Given the description of an element on the screen output the (x, y) to click on. 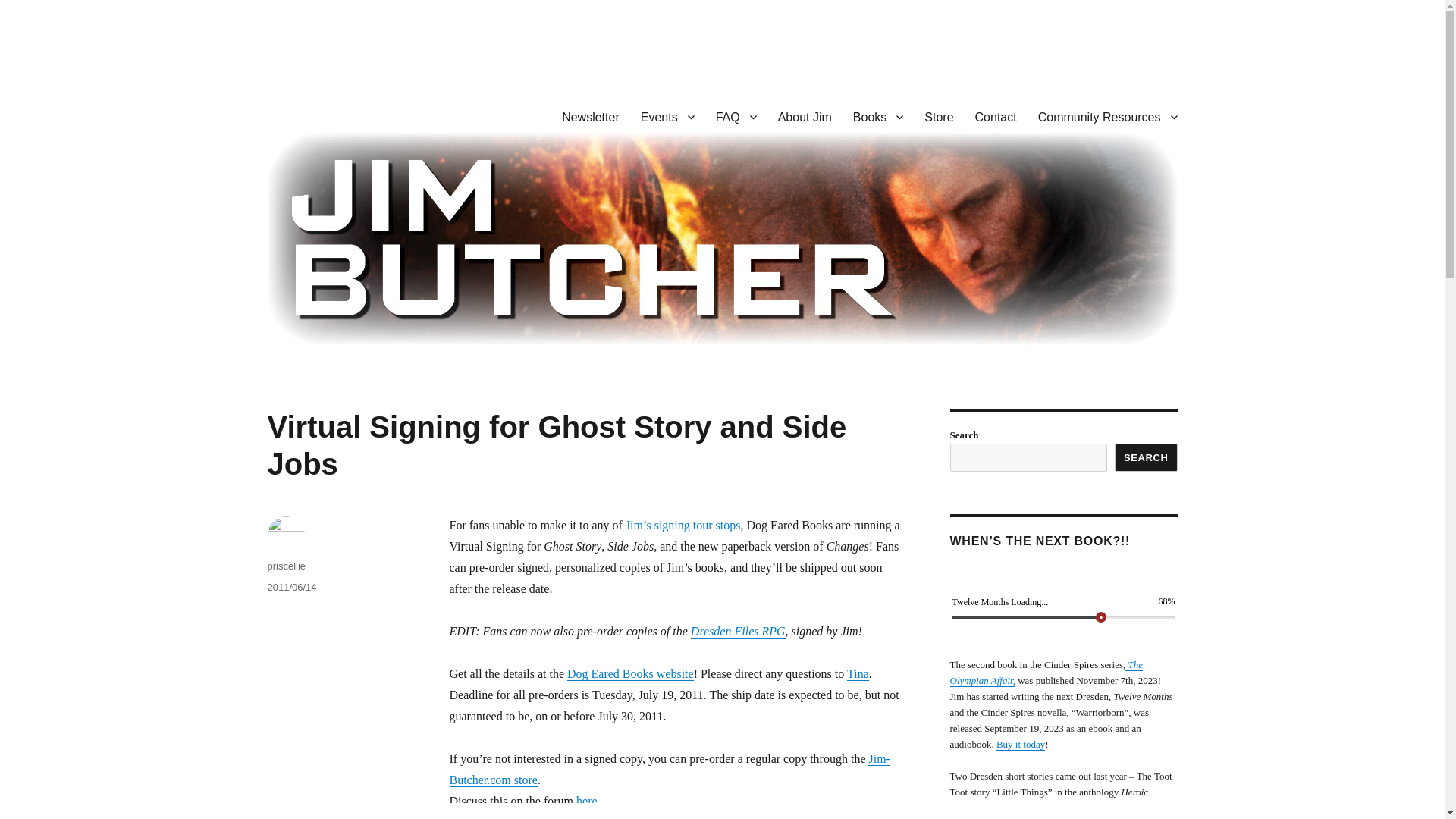
Jim Butcher (328, 114)
Newsletter (590, 116)
Books (878, 116)
About Jim (805, 116)
Events (667, 116)
FAQ (735, 116)
